Given the description of an element on the screen output the (x, y) to click on. 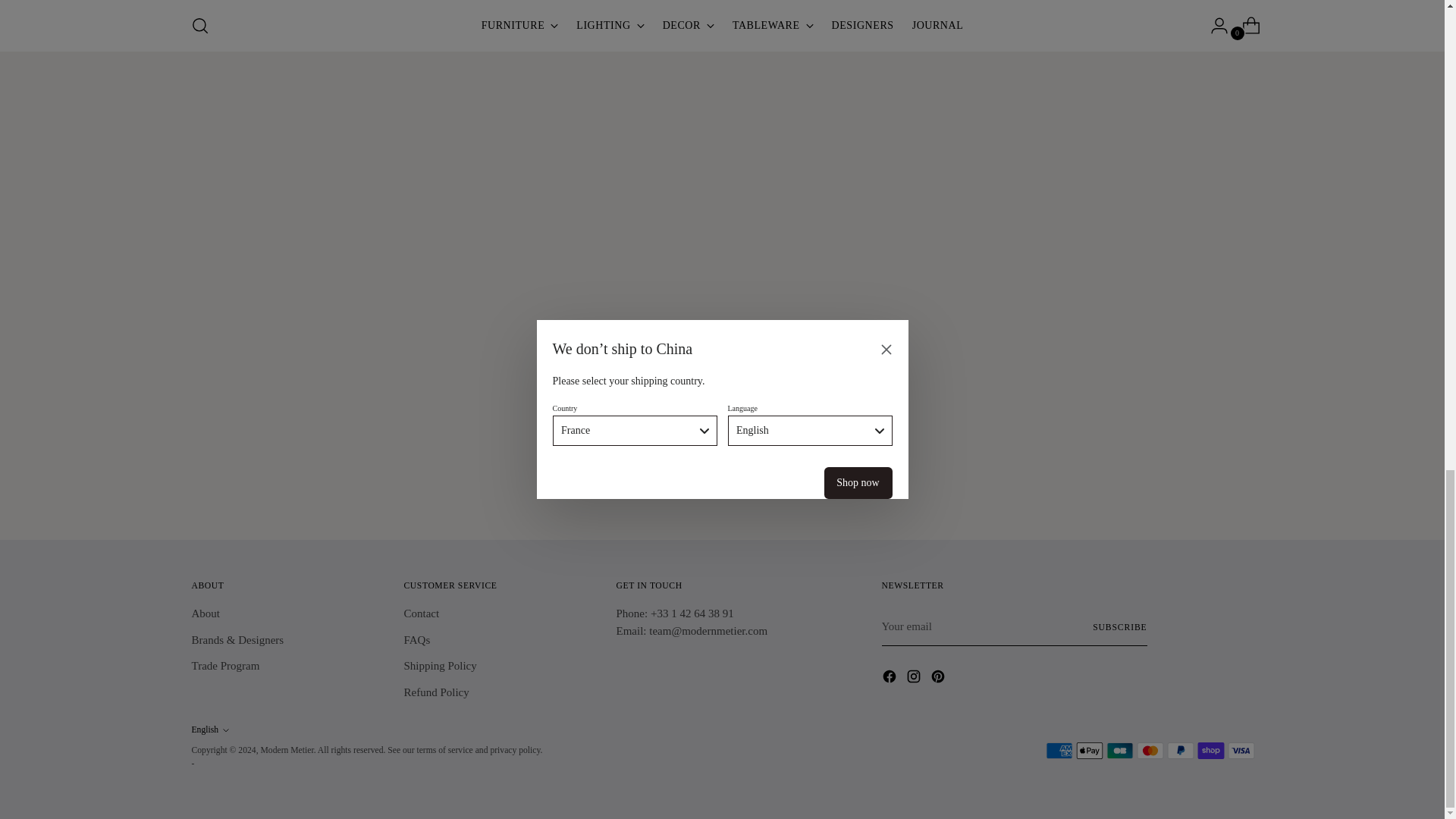
Modern Metier on Instagram (914, 679)
